Given the description of an element on the screen output the (x, y) to click on. 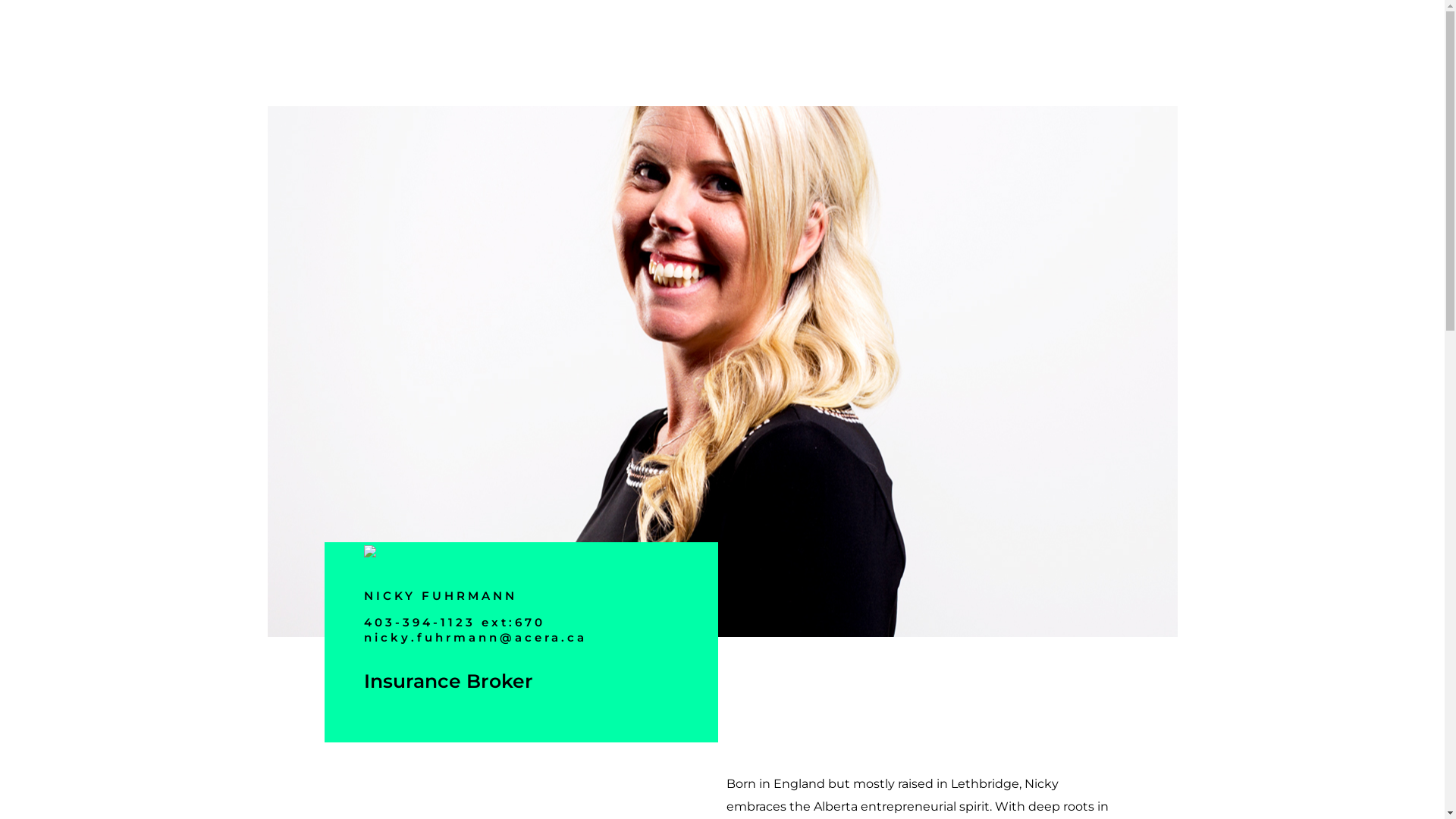
nicky.fuhrmann@acera.ca Element type: text (475, 637)
